Given the description of an element on the screen output the (x, y) to click on. 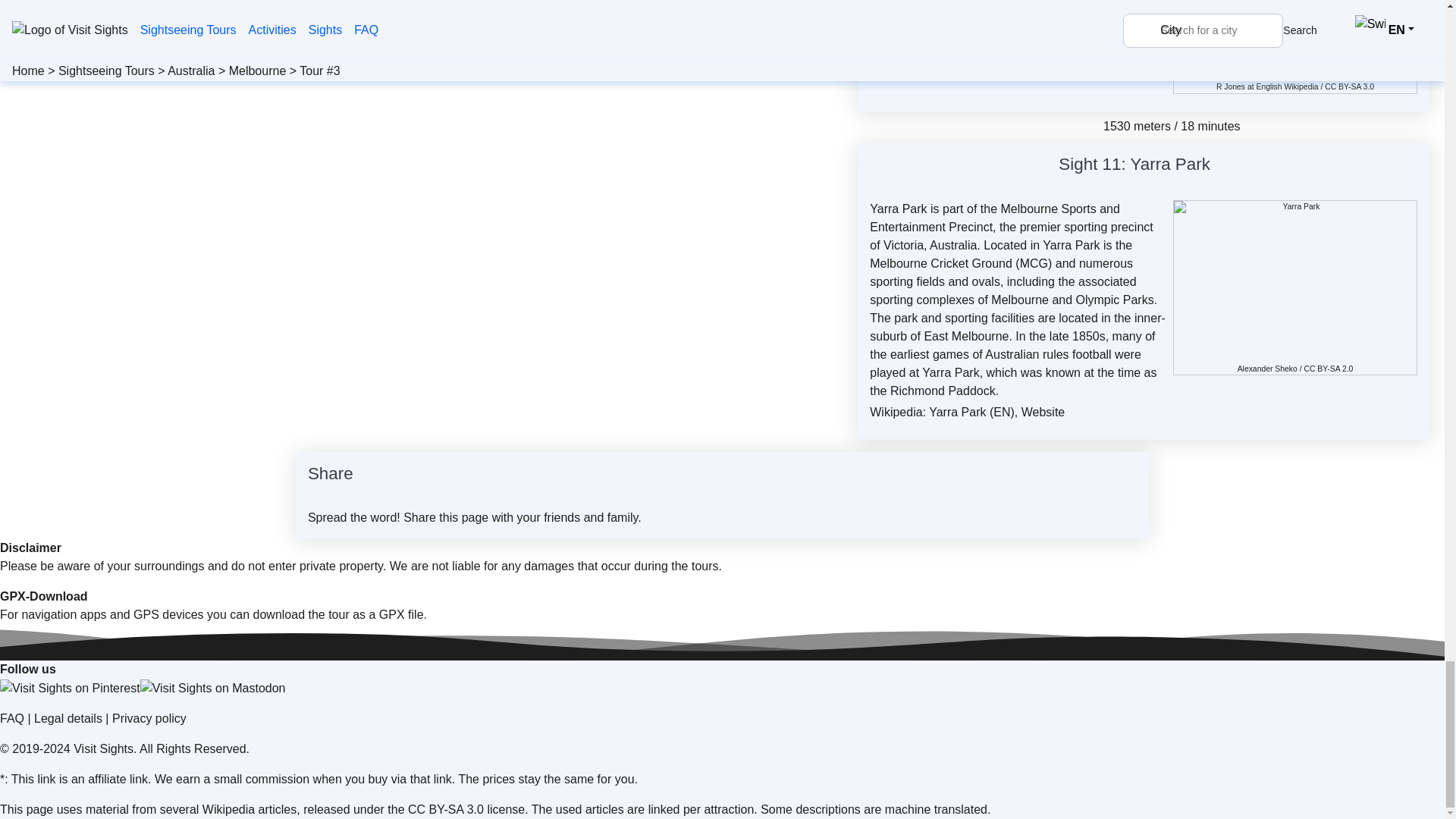
wikipedia: (1286, 86)
wikipedia:User:R Jones (1229, 86)
Visit Sights on Pinterest (69, 688)
Visit Sights on Mastodon (212, 688)
